Given the description of an element on the screen output the (x, y) to click on. 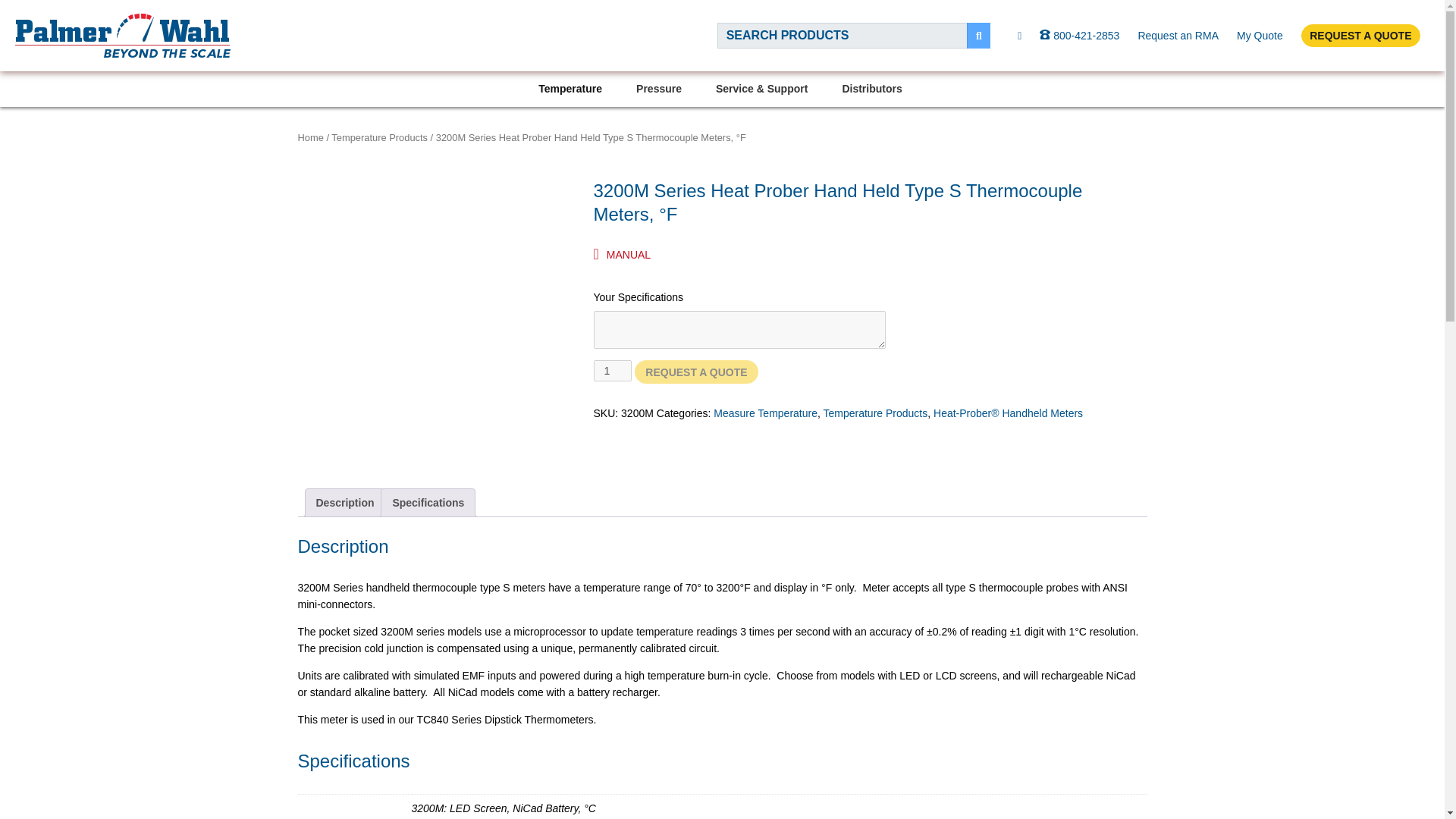
Request an RMA (1177, 35)
Pressure (660, 89)
My Quote (1259, 35)
REQUEST A QUOTE (1361, 35)
1 (611, 370)
Palmer Wahl Instrument Manufacturing (122, 34)
800-421-2853 (1079, 35)
Temperature (571, 89)
